Given the description of an element on the screen output the (x, y) to click on. 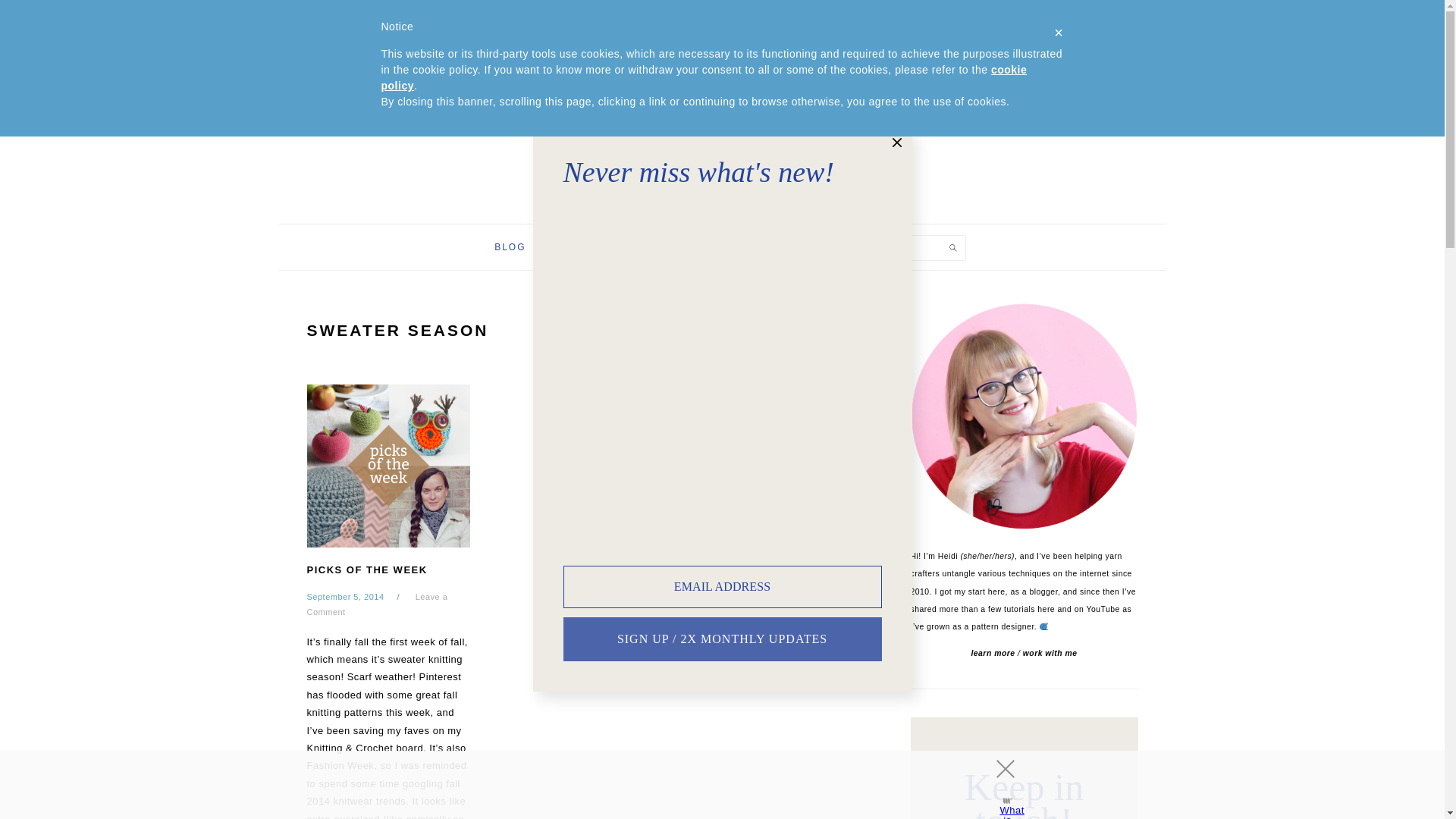
Start shopping (1013, 23)
ABOUT (577, 247)
learn more (992, 653)
Leave a Comment (375, 604)
3rd party ad content (708, 785)
PICKS OF THE WEEK (365, 569)
SHOP (647, 247)
HANDS OCCUPIED (721, 132)
work with me (1050, 653)
